Given the description of an element on the screen output the (x, y) to click on. 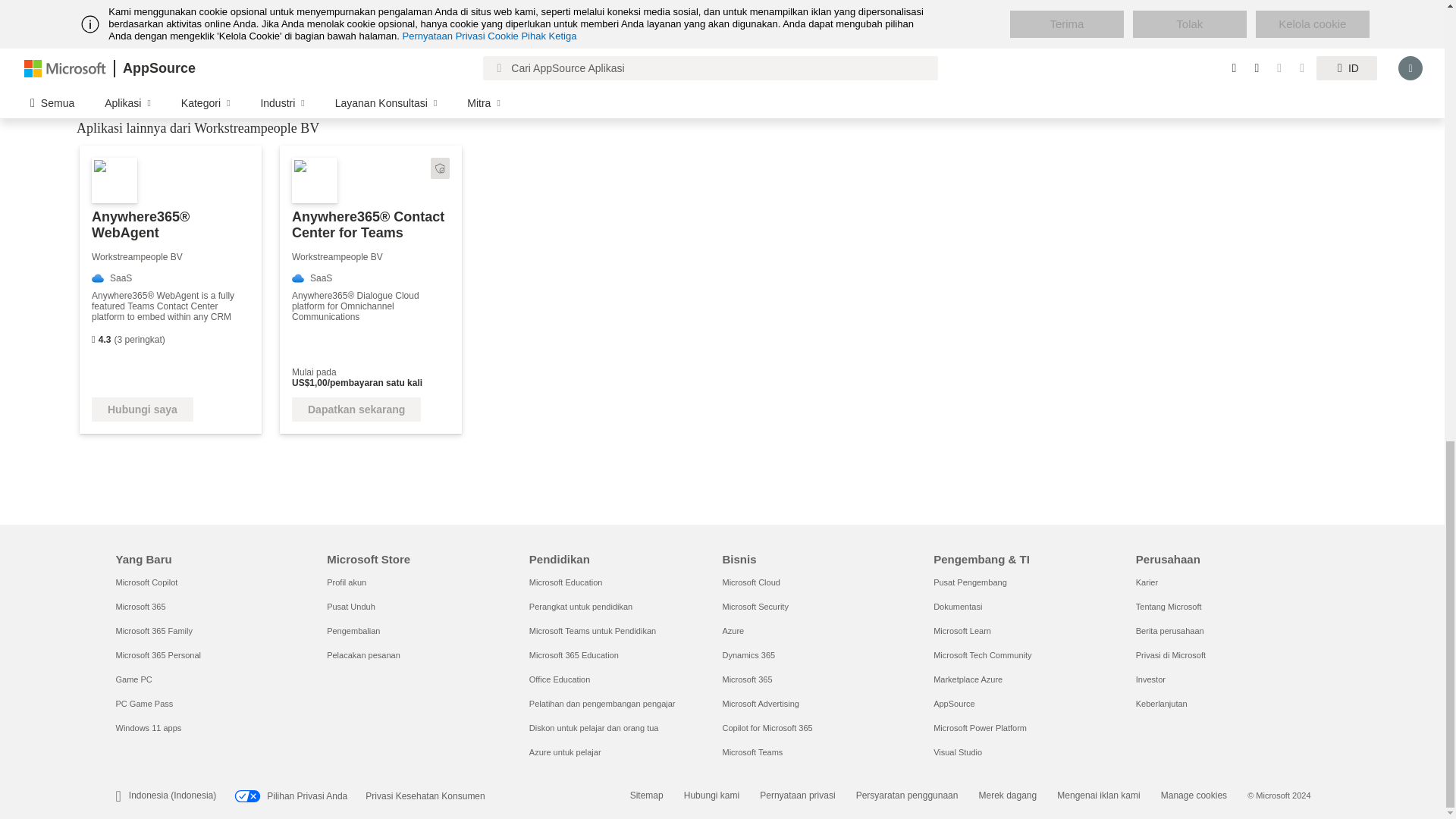
Game PC (133, 678)
Dapatkan sekarang (356, 409)
Hubungi saya (142, 409)
Microsoft Copilot (146, 582)
Microsoft 365 Family (153, 630)
Bersertifikasi Microsoft 365 (439, 168)
Microsoft 365 (140, 605)
Microsoft 365 Personal (157, 655)
